Given the description of an element on the screen output the (x, y) to click on. 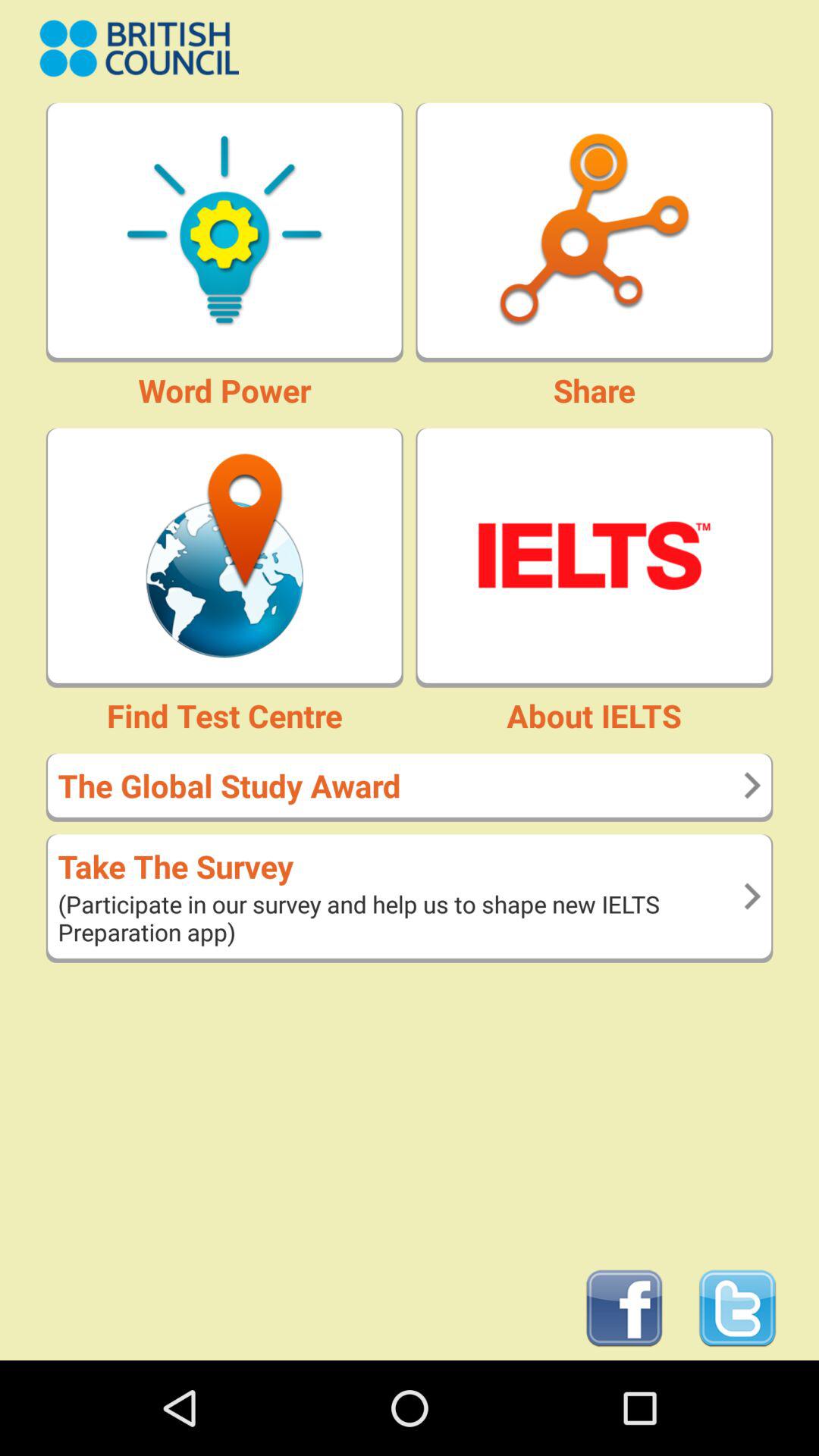
select the option (594, 555)
